Given the description of an element on the screen output the (x, y) to click on. 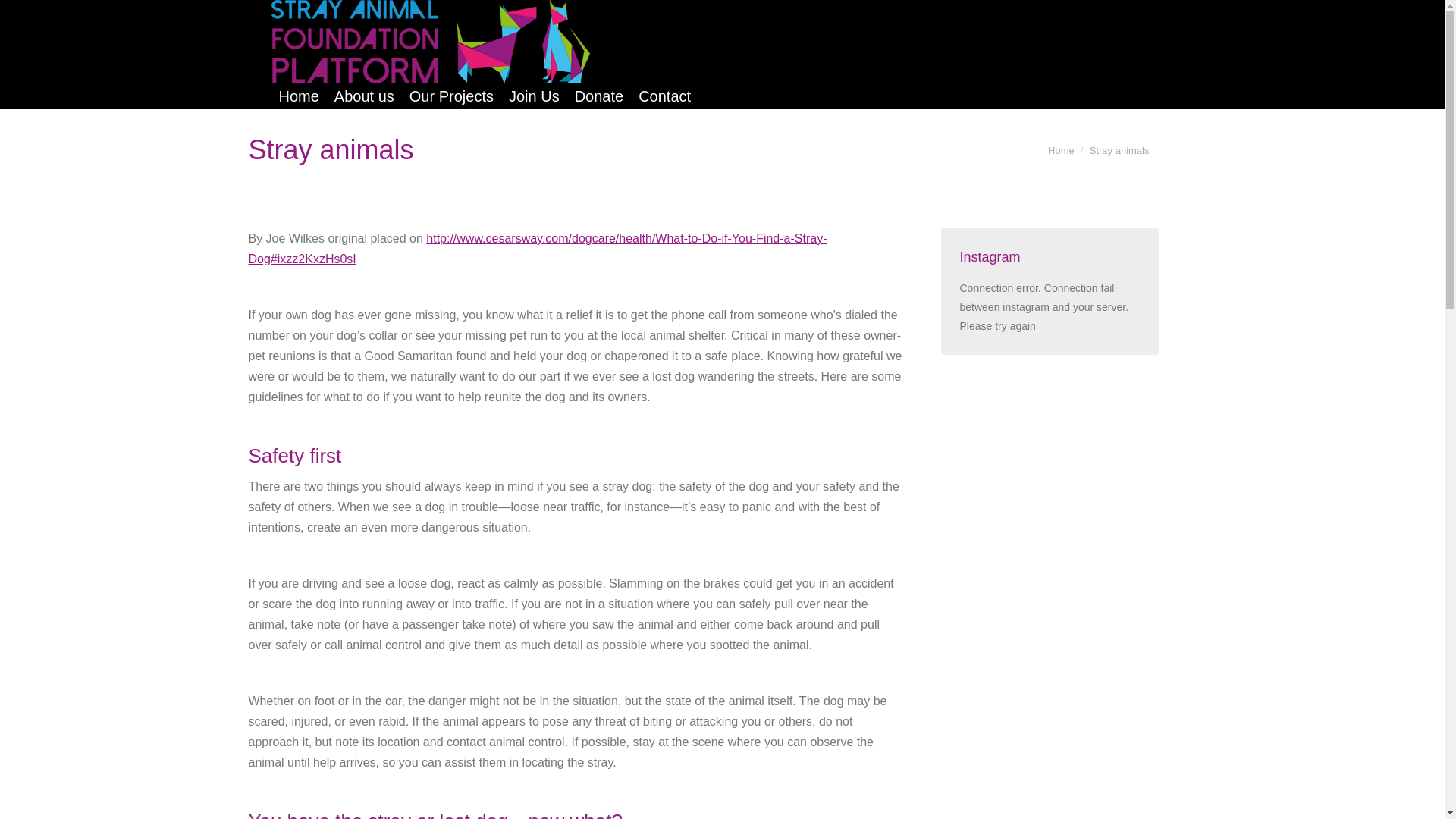
About us (363, 95)
Donate (599, 95)
Join Us (533, 95)
Home (298, 95)
Home (1061, 150)
Contact (664, 95)
Home (1061, 150)
Our Projects (450, 95)
